Given the description of an element on the screen output the (x, y) to click on. 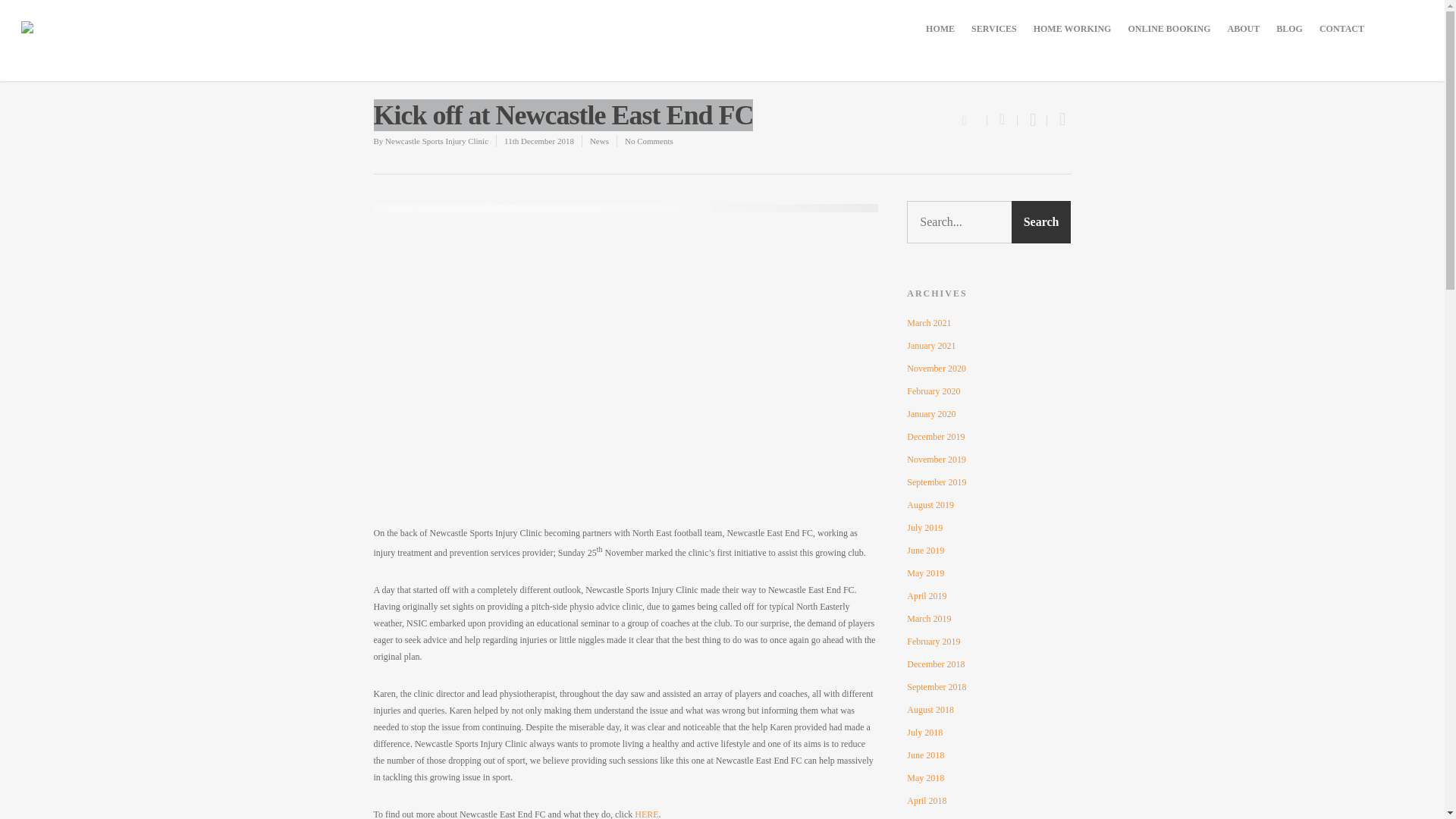
Search (1041, 221)
Share this (1002, 120)
ABOUT (1243, 28)
Search (1041, 221)
ONLINE BOOKING (1168, 28)
Search for: (988, 221)
HOME (940, 28)
Love this (972, 118)
HOME WORKING (1072, 28)
SERVICES (994, 28)
